Given the description of an element on the screen output the (x, y) to click on. 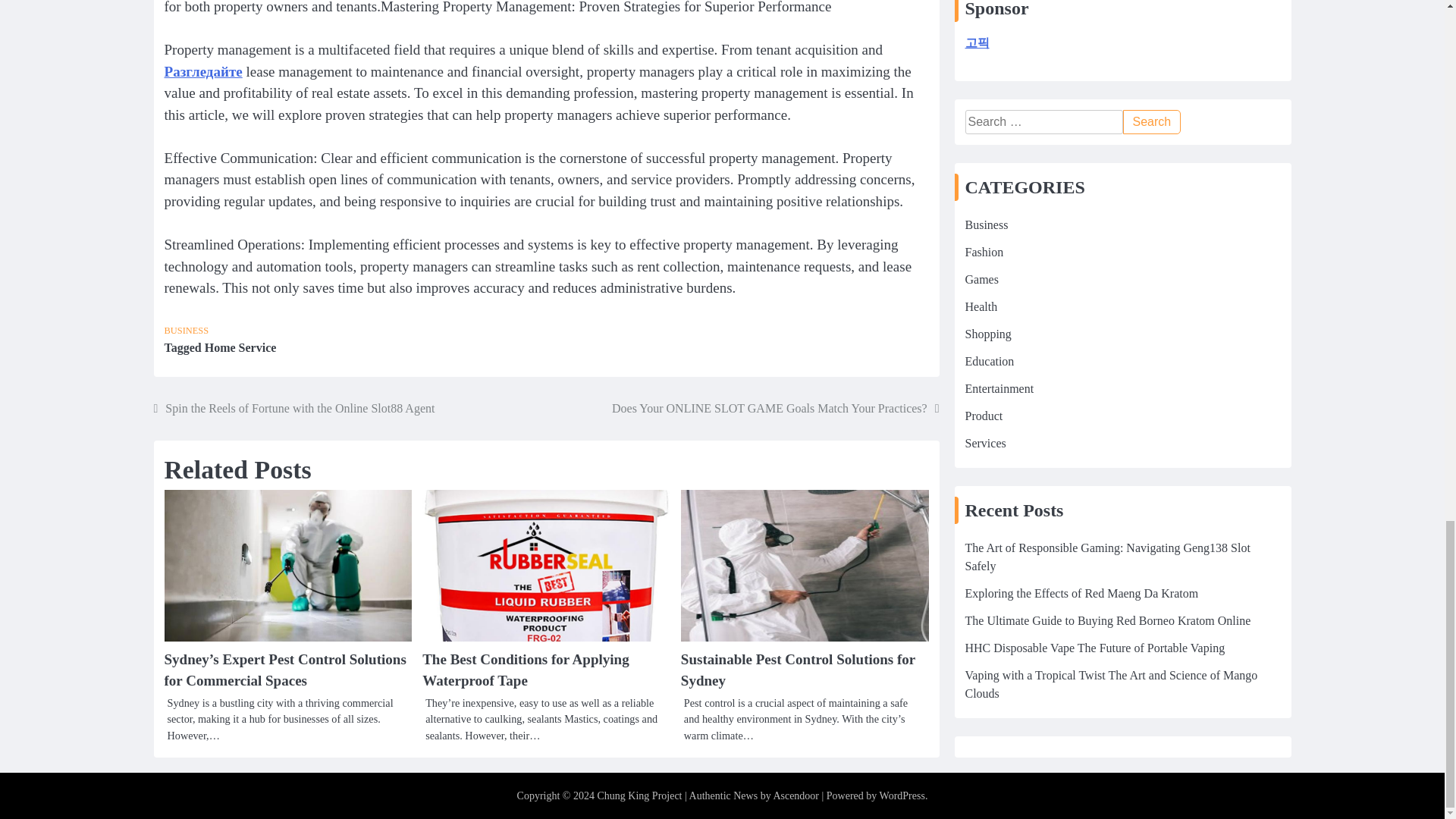
Spin the Reels of Fortune with the Online Slot88 Agent (292, 408)
The Best Conditions for Applying Waterproof Tape (525, 670)
Sustainable Pest Control Solutions for Sydney (798, 670)
Home Service (240, 347)
BUSINESS (185, 330)
Does Your ONLINE SLOT GAME Goals Match Your Practices? (775, 408)
